Given the description of an element on the screen output the (x, y) to click on. 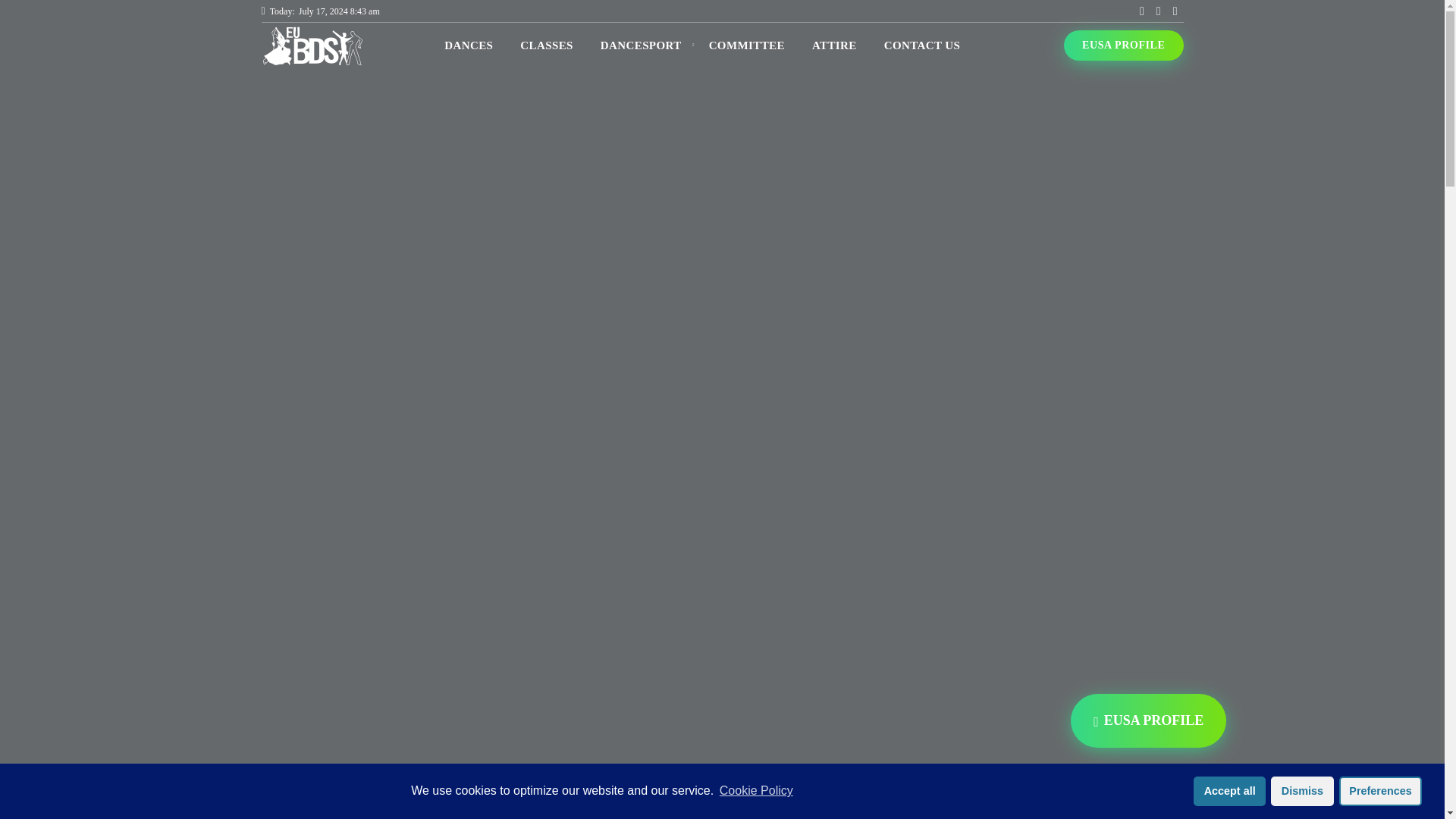
CONTACT US (922, 44)
CLASSES (546, 44)
EUSA PROFILE (1123, 45)
Accept all (1229, 791)
DANCES (468, 44)
Dismiss (1302, 791)
Preferences (1380, 791)
COMMITTEE (746, 44)
Cookie Policy (755, 790)
ATTIRE (833, 44)
DANCESPORT (640, 44)
